Given the description of an element on the screen output the (x, y) to click on. 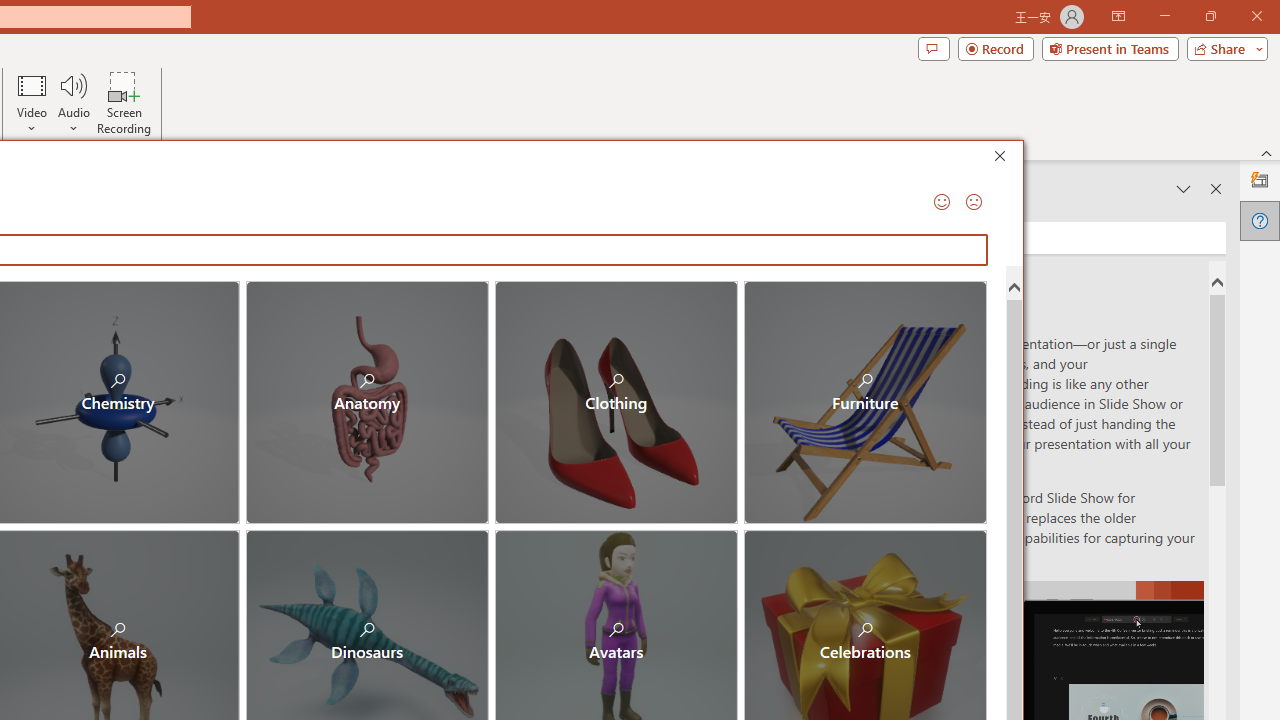
Furniture (864, 402)
